Given the description of an element on the screen output the (x, y) to click on. 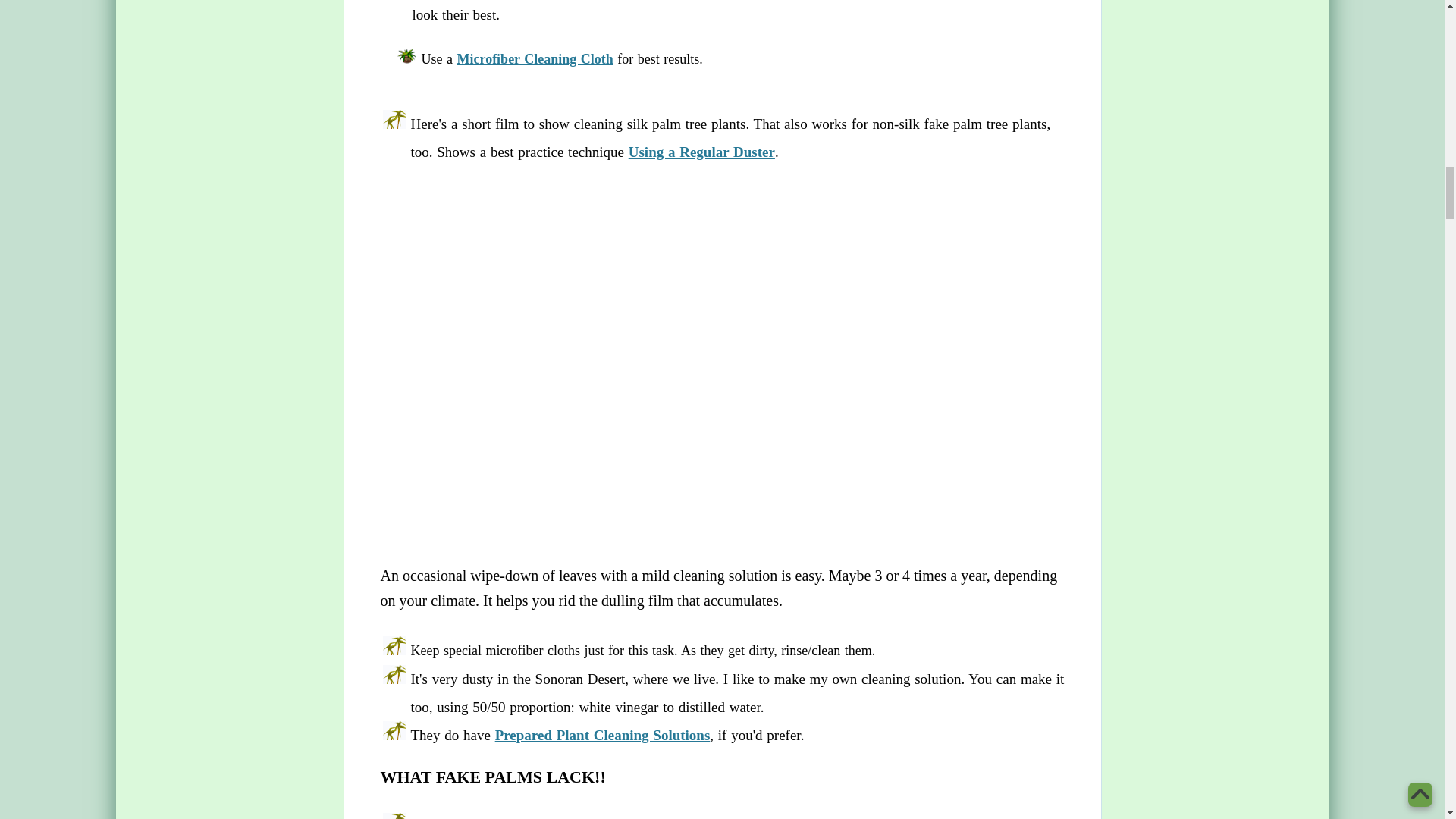
Using a Regular Duster (701, 151)
Microfiber Cleaning Cloth (534, 58)
